Given the description of an element on the screen output the (x, y) to click on. 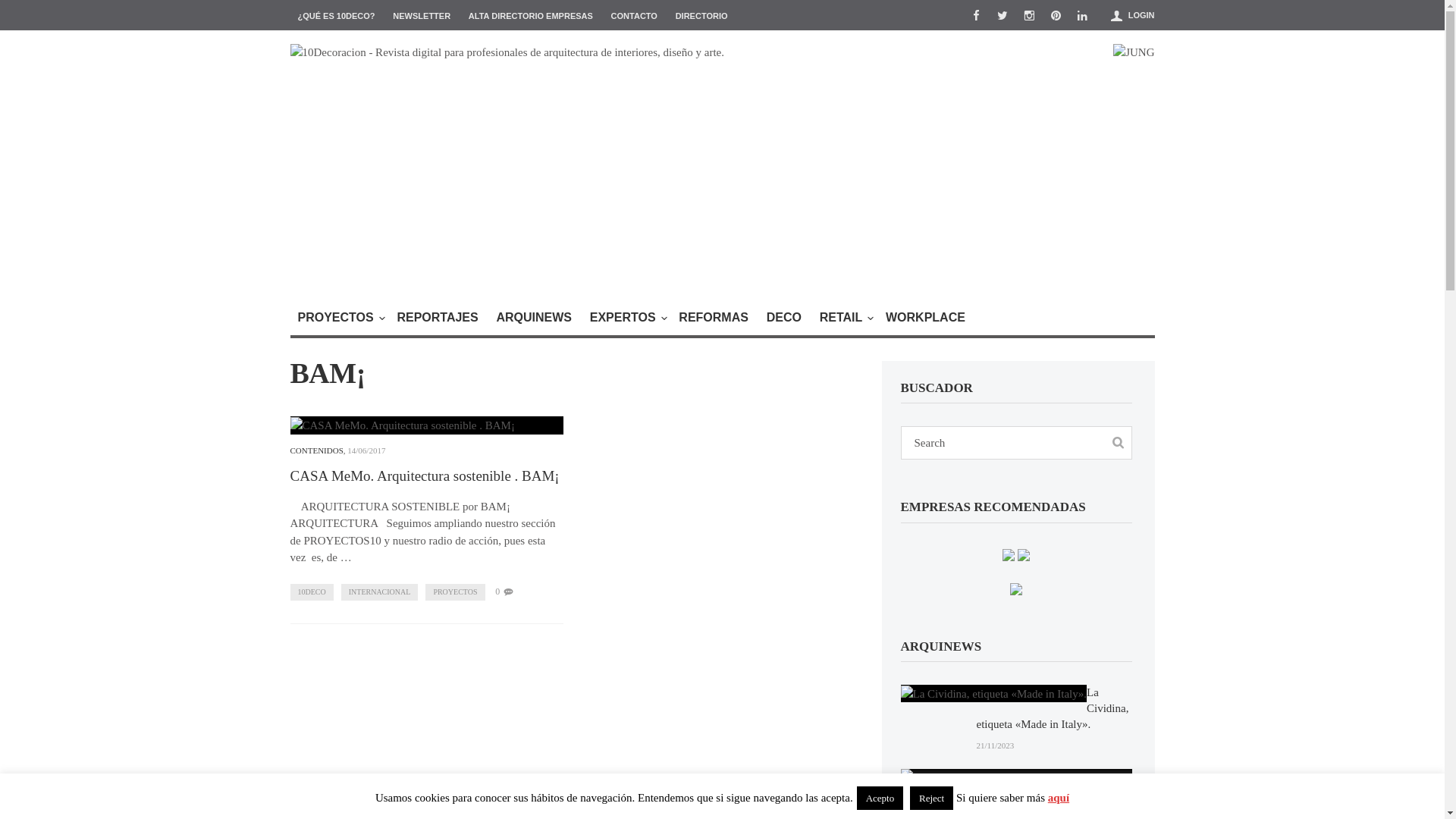
DECO Element type: text (784, 317)
CONTENIDOS Element type: text (315, 450)
RETAIL Element type: text (843, 317)
NEWSLETTER Element type: text (421, 15)
0 Element type: text (497, 591)
10DECO Element type: text (310, 592)
PROYECTOS Element type: text (454, 592)
EXPERTOS Element type: text (625, 317)
REFORMAS Element type: text (713, 317)
ALTA DIRECTORIO EMPRESAS Element type: text (530, 15)
JUNG Element type: hover (1133, 51)
REPORTAJES Element type: text (437, 317)
Acepto Element type: text (879, 797)
LOGIN Element type: text (1141, 14)
WORKPLACE Element type: text (925, 317)
Advertisement Element type: hover (721, 175)
INTERNACIONAL Element type: text (379, 592)
PROYECTOS Element type: text (337, 317)
Log In Element type: text (848, 481)
DIRECTORIO Element type: text (701, 15)
Reject Element type: text (931, 797)
ARQUINEWS Element type: text (533, 317)
Get New Password Element type: text (815, 437)
CONTACTO Element type: text (634, 15)
